Given the description of an element on the screen output the (x, y) to click on. 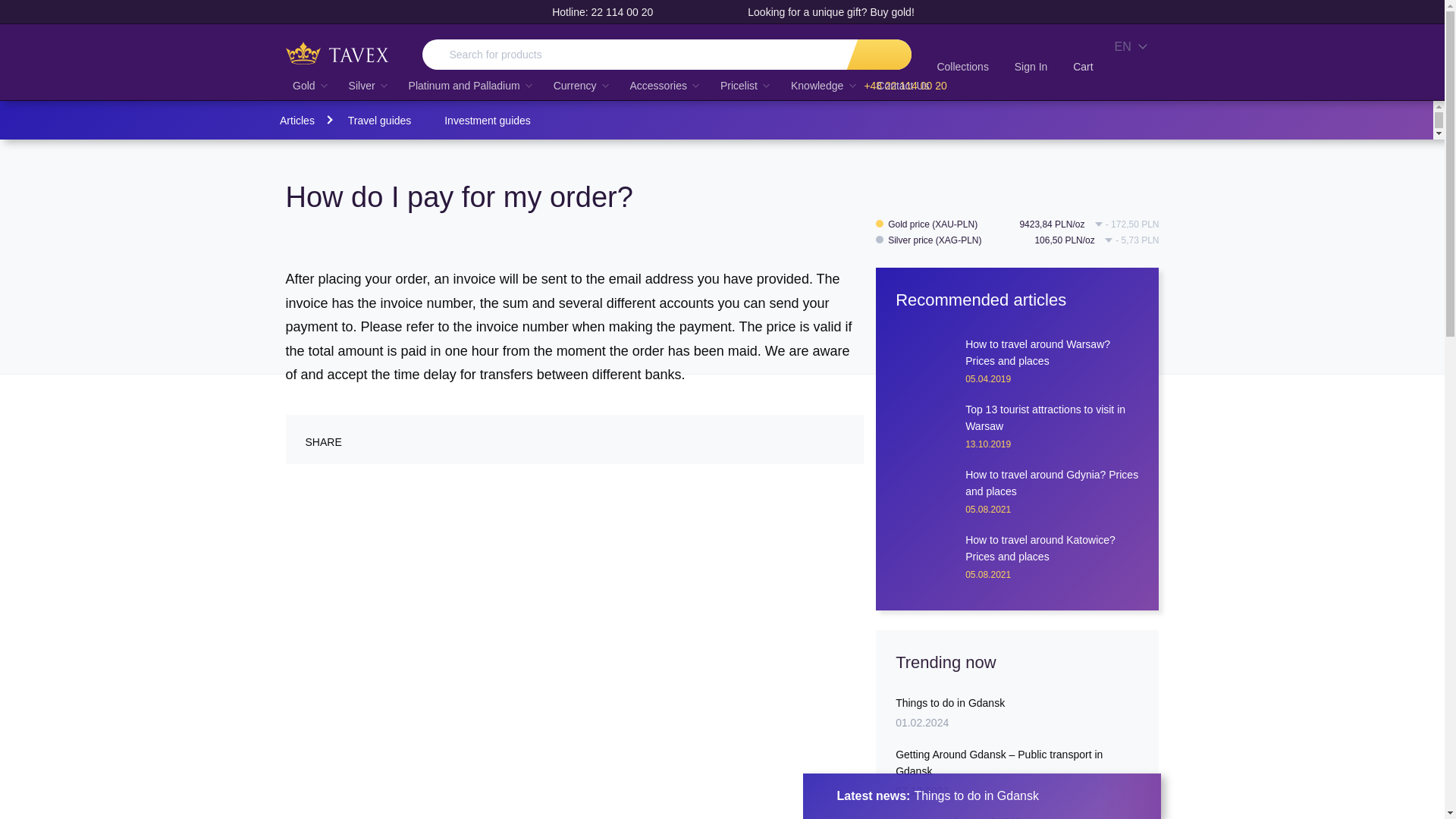
Hotline: 22 114 00 20 (590, 13)
Gold (309, 85)
Looking for a unique gift? Buy gold! (819, 13)
